Given the description of an element on the screen output the (x, y) to click on. 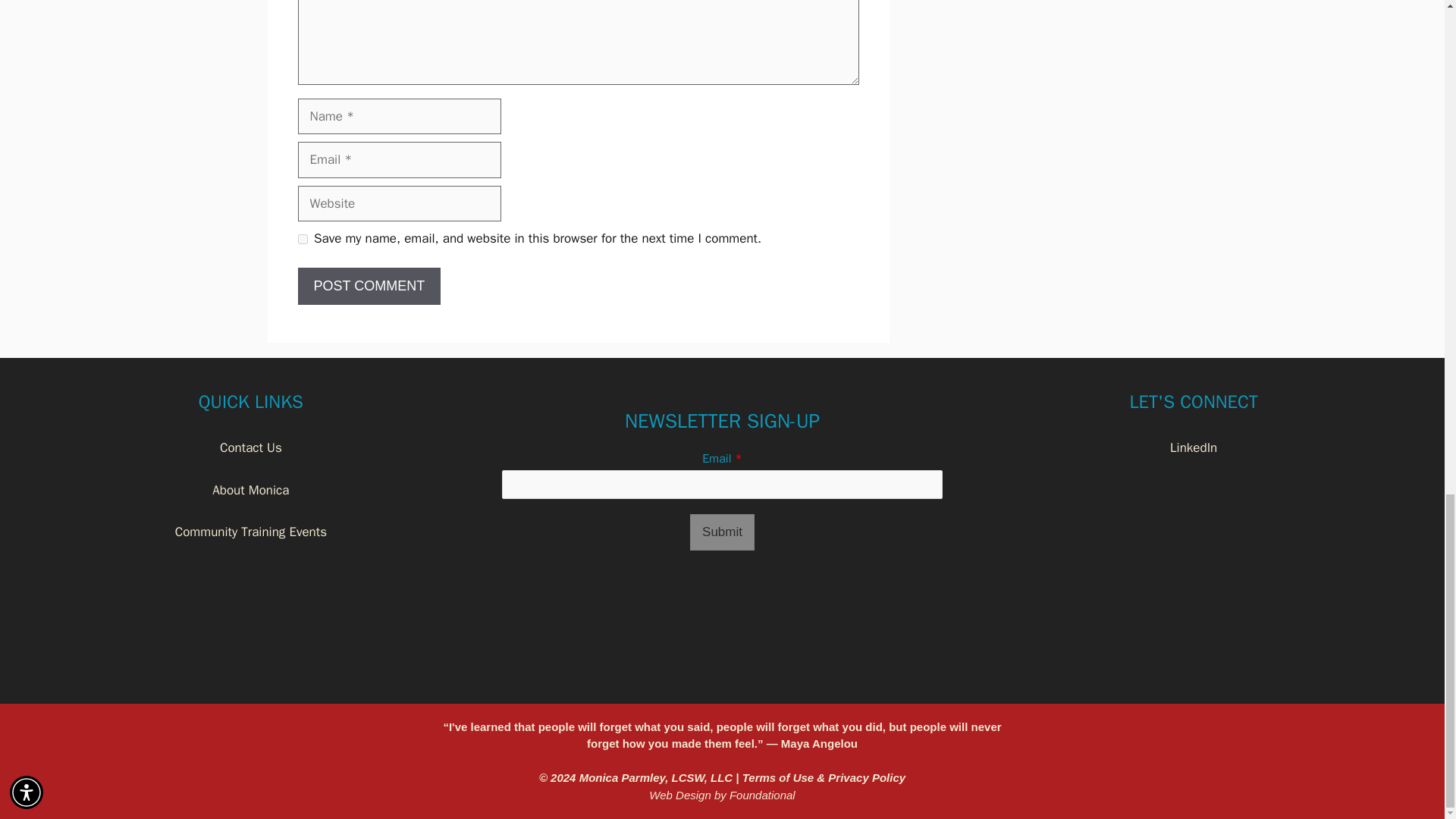
Us (272, 447)
yes (302, 239)
Community Training Events (250, 531)
About Monica (250, 489)
Post Comment (369, 285)
Post Comment (369, 285)
Contact (241, 447)
